Given the description of an element on the screen output the (x, y) to click on. 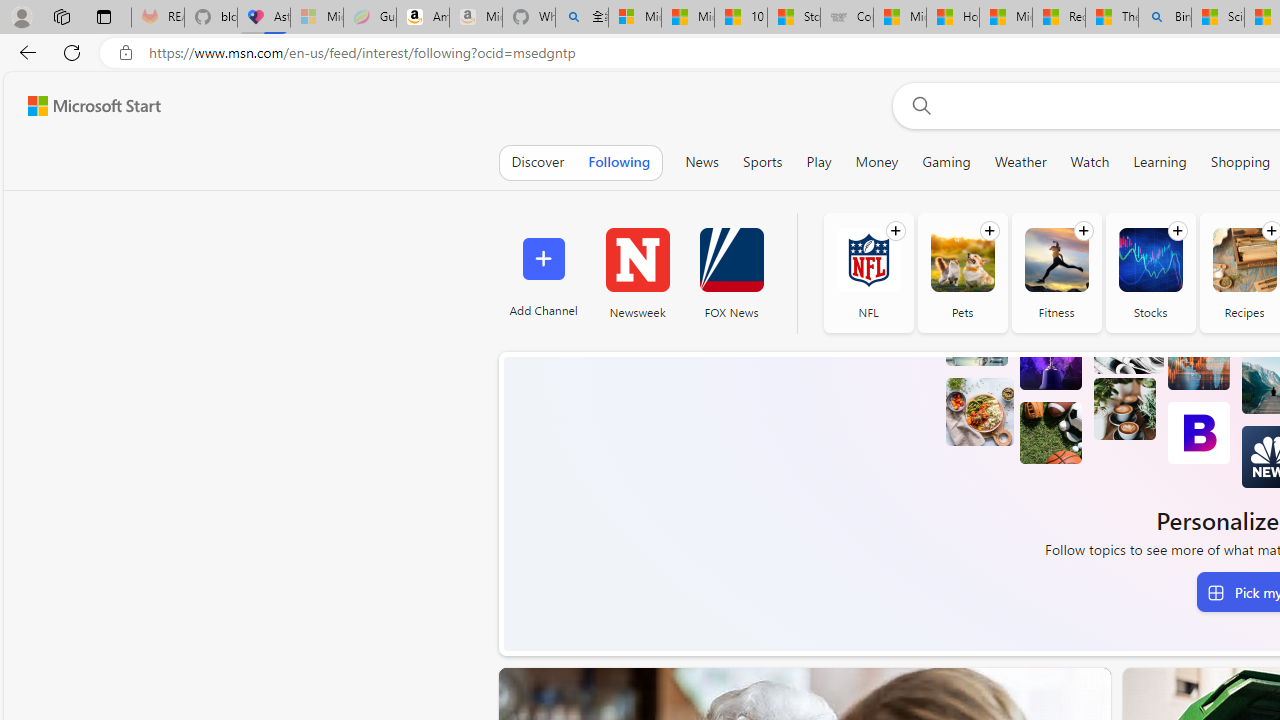
Recipes (1244, 260)
Add Channel (542, 272)
FOX News (731, 260)
FOX News (731, 272)
Recipes - MSN (1059, 17)
Asthma Inhalers: Names and Types (264, 17)
